Given the description of an element on the screen output the (x, y) to click on. 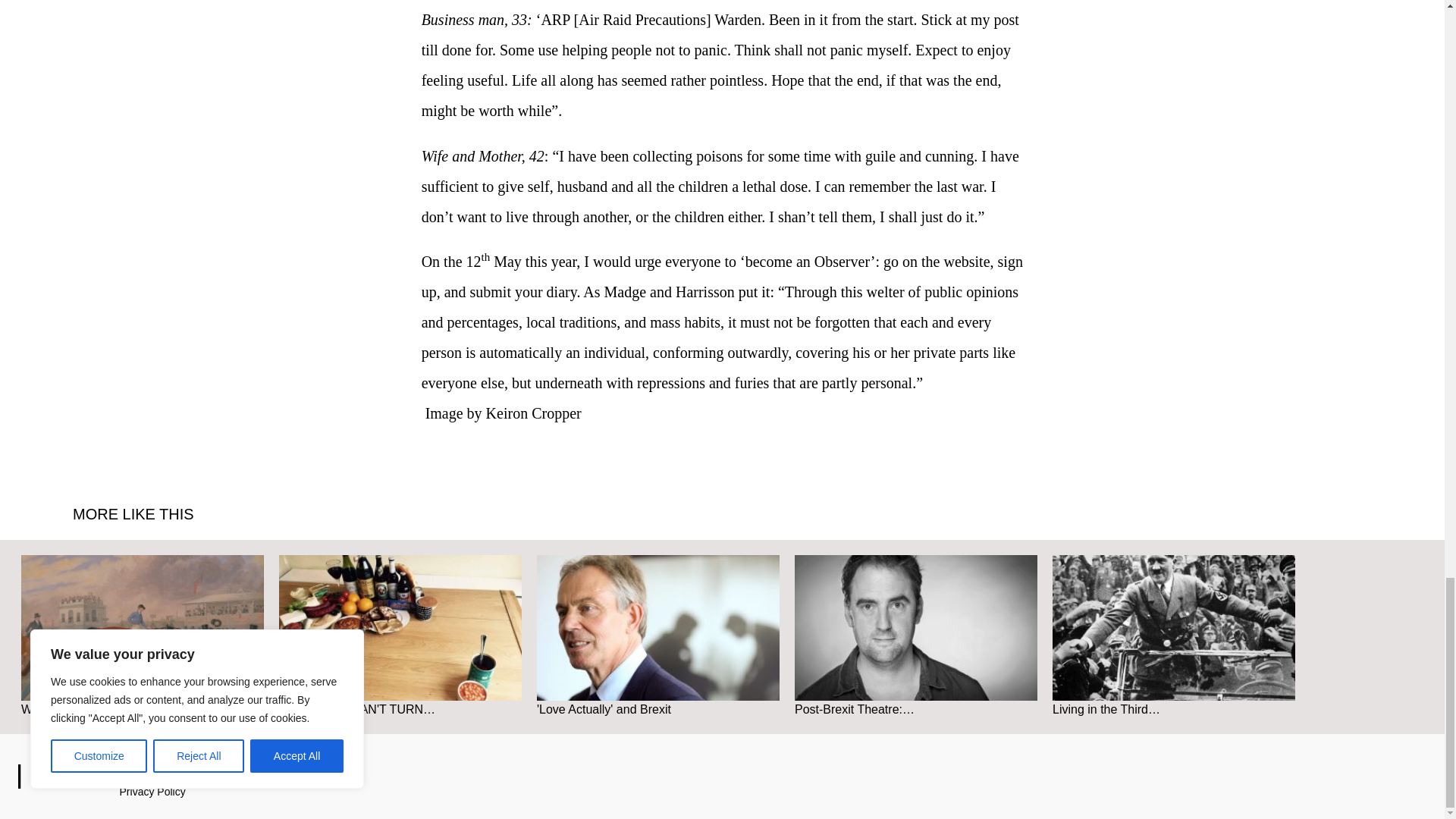
Living in the Third Reich: An interview with Ron Gray (1173, 628)
BREXIT: WE CAN'T TURN BACK TIME (400, 628)
Post-Brexit Theatre: An Interview with Jeremy Herrin (915, 628)
Privacy Policy (152, 791)
Why Horse Racing is in our DNA (142, 635)
Why Horse Racing is in our DNA (142, 628)
'Love Actually' and Brexit (657, 628)
'Love Actually' and Brexit (657, 635)
